Given the description of an element on the screen output the (x, y) to click on. 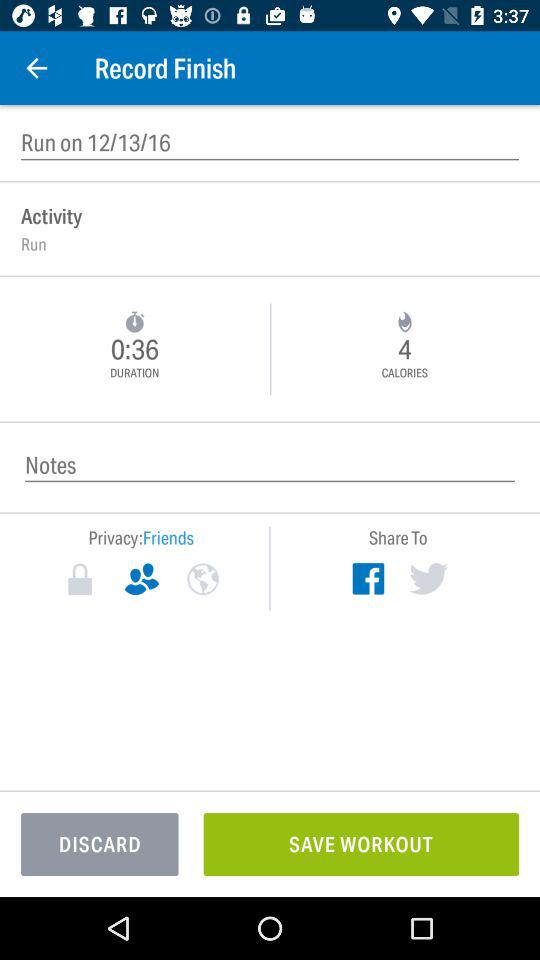
public (202, 579)
